Given the description of an element on the screen output the (x, y) to click on. 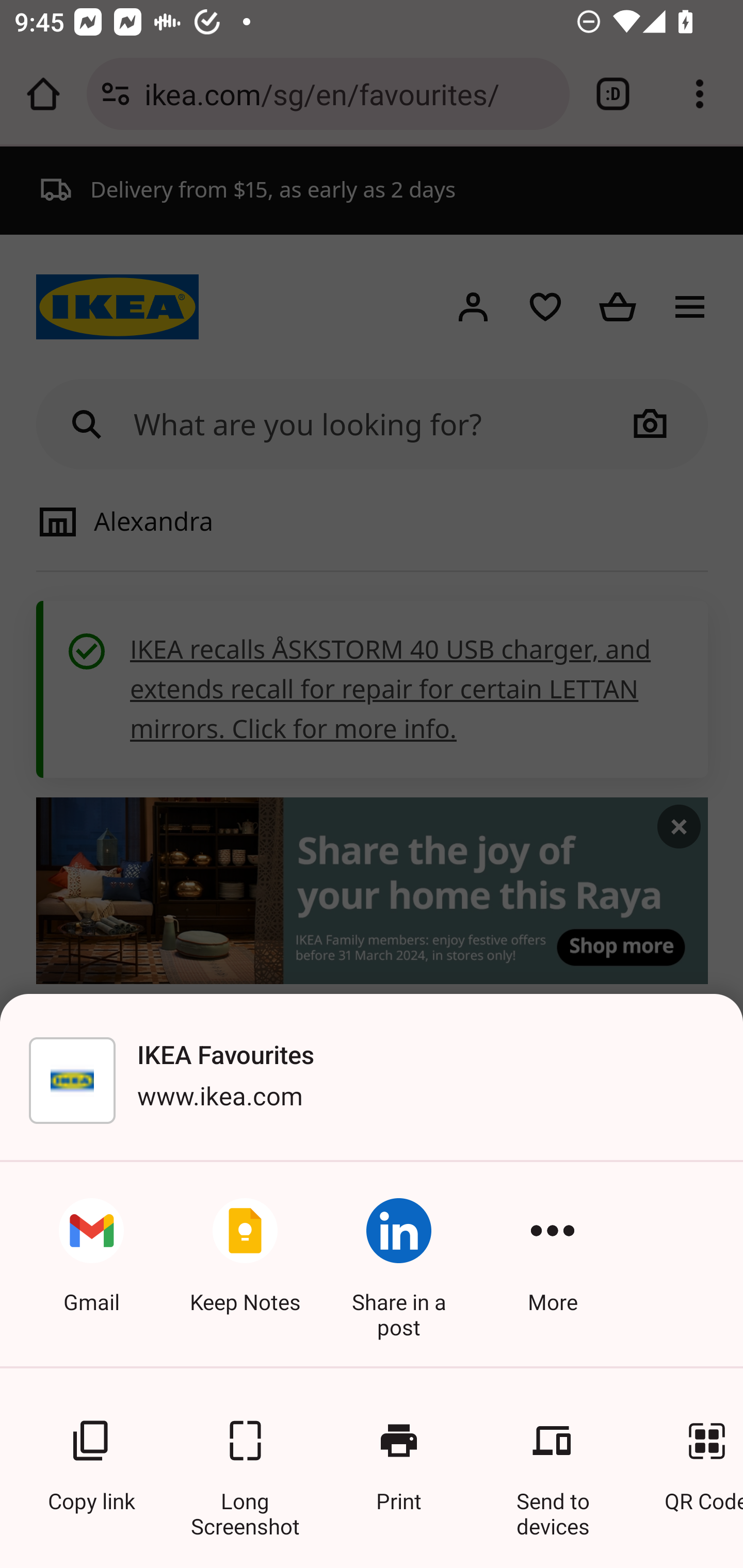
Gmail (90, 1263)
Keep Notes (244, 1263)
Share in a post (398, 1263)
More (552, 1263)
Copy link (90, 1454)
Long Screenshot (244, 1454)
Print (398, 1454)
Send to devices (552, 1454)
QR Code (693, 1454)
